Given the description of an element on the screen output the (x, y) to click on. 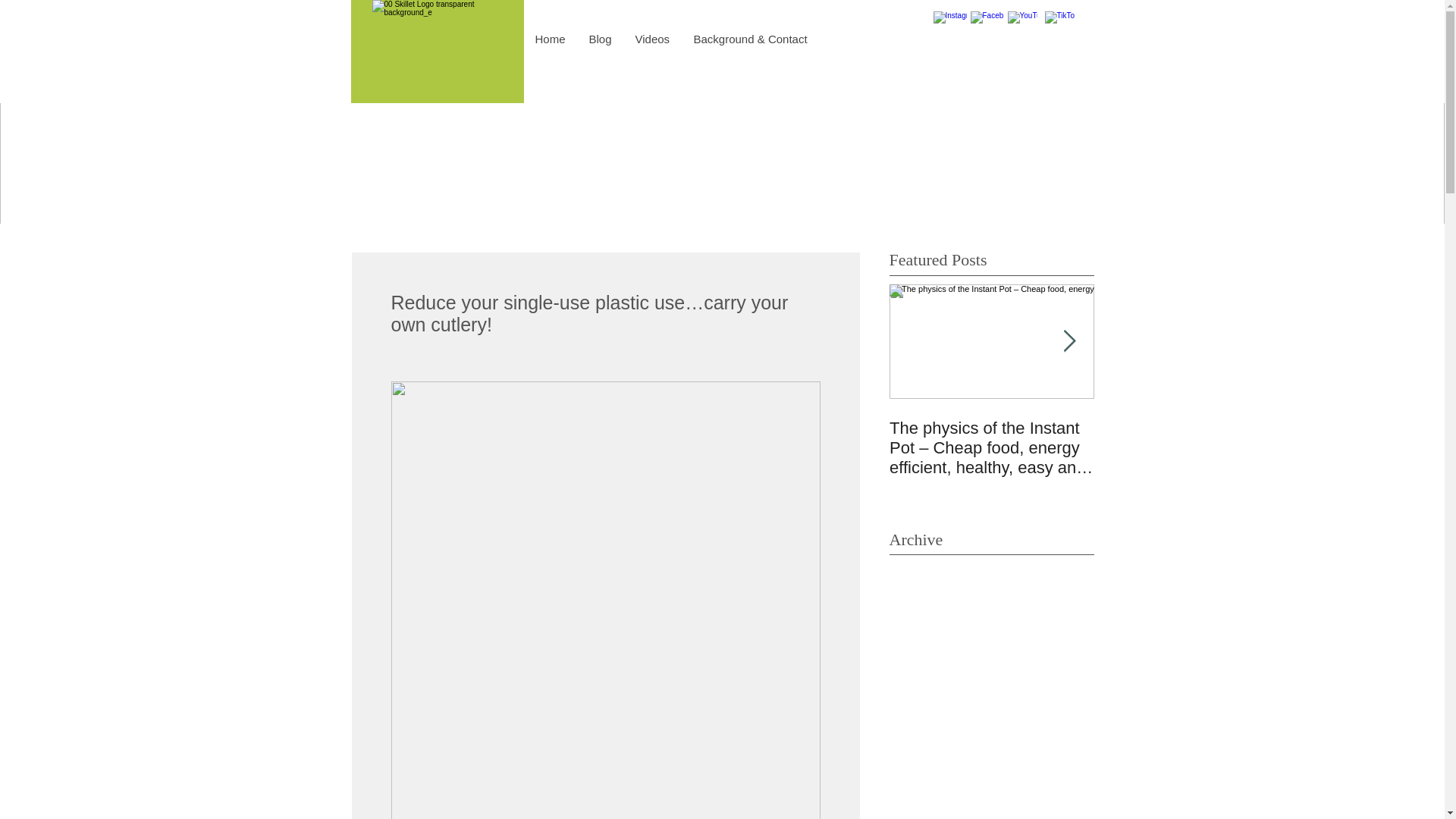
Blog (599, 38)
Home (549, 38)
Videos (652, 38)
